Given the description of an element on the screen output the (x, y) to click on. 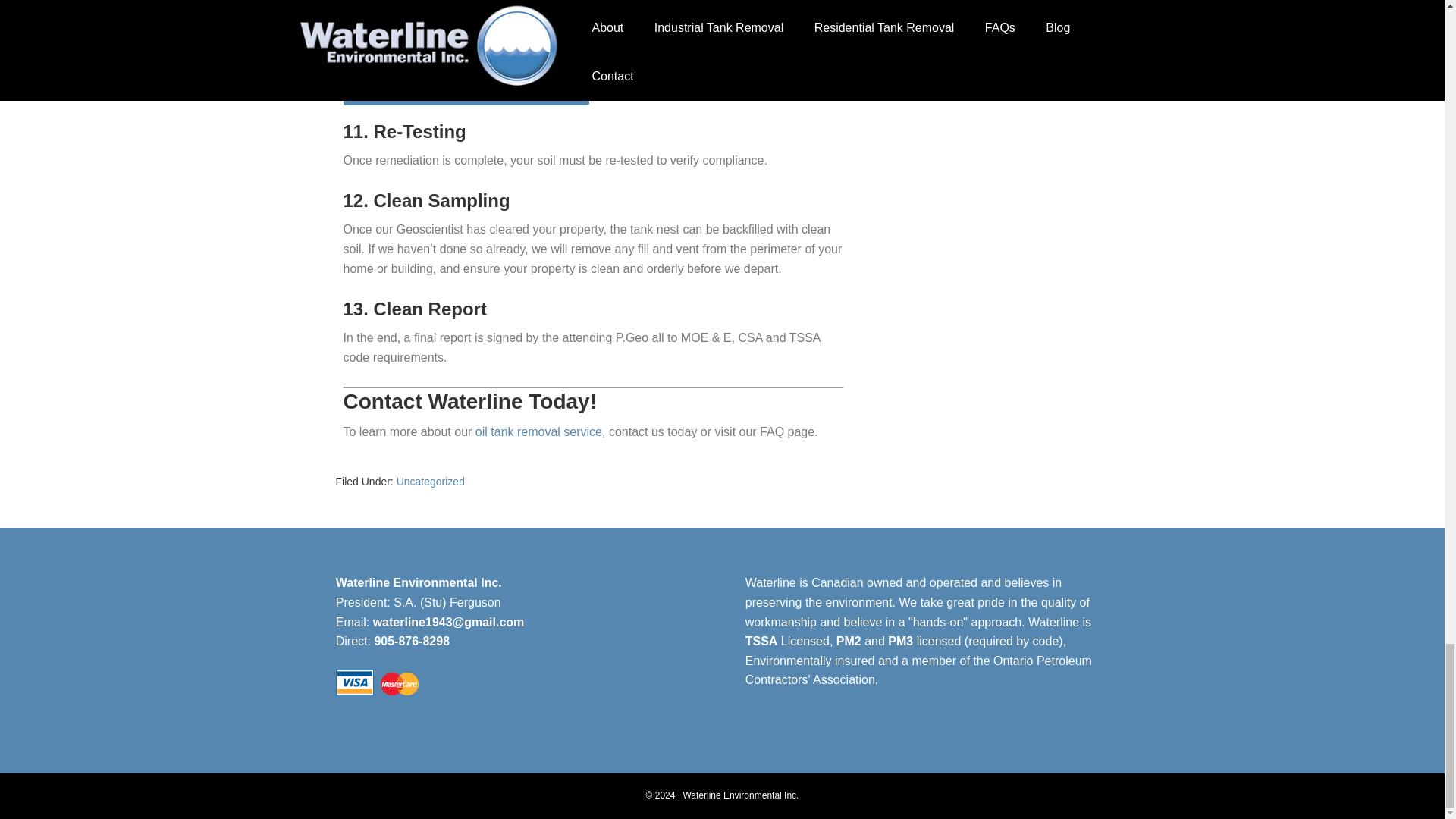
Uncategorized (430, 481)
5 Reasons Soil Analysis Is So Important (465, 90)
Waterline Environmental Inc. (739, 795)
oil tank removal service (539, 431)
905-876-8298 (411, 640)
